Given the description of an element on the screen output the (x, y) to click on. 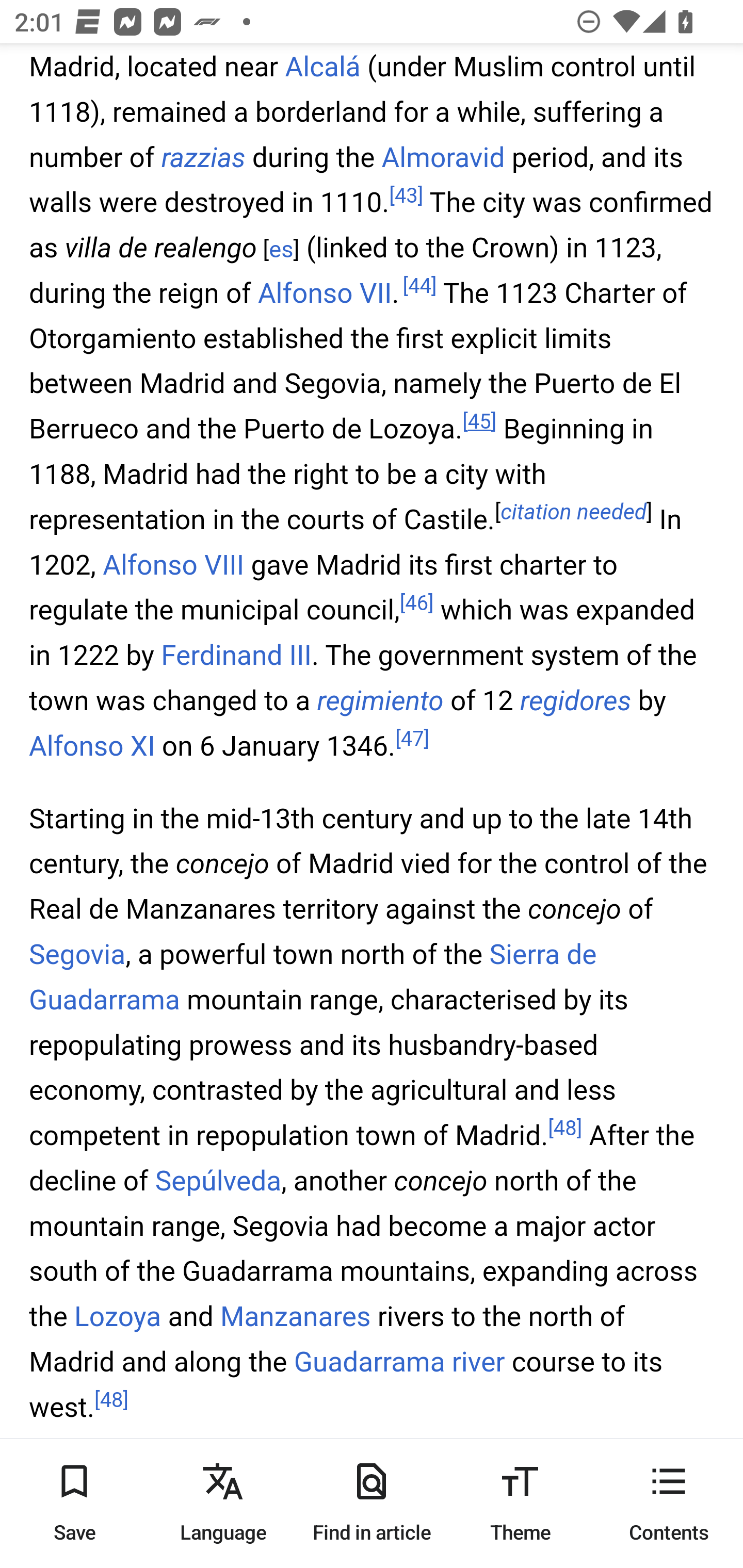
Alcalá (322, 67)
razzias (202, 158)
Almoravid (442, 158)
[] [ 43 ] (405, 195)
es (280, 250)
[] [ 44 ] (419, 286)
Alfonso VII (324, 292)
[] [ 45 ] (480, 423)
citation needed (573, 513)
Alfonso VIII (173, 565)
[] [ 46 ] (416, 603)
Ferdinand III (236, 655)
regimiento (379, 700)
regidores (574, 700)
[] [ 47 ] (412, 738)
Alfonso XI (92, 746)
Segovia (77, 955)
Sierra de Guadarrama (312, 978)
[] [ 48 ] (564, 1129)
Sepúlveda (217, 1180)
Lozoya (117, 1317)
Manzanares (295, 1317)
Guadarrama river (398, 1363)
[] [ 48 ] (111, 1399)
Save (74, 1502)
Language (222, 1502)
Find in article (371, 1502)
Theme (519, 1502)
Contents (668, 1502)
